Given the description of an element on the screen output the (x, y) to click on. 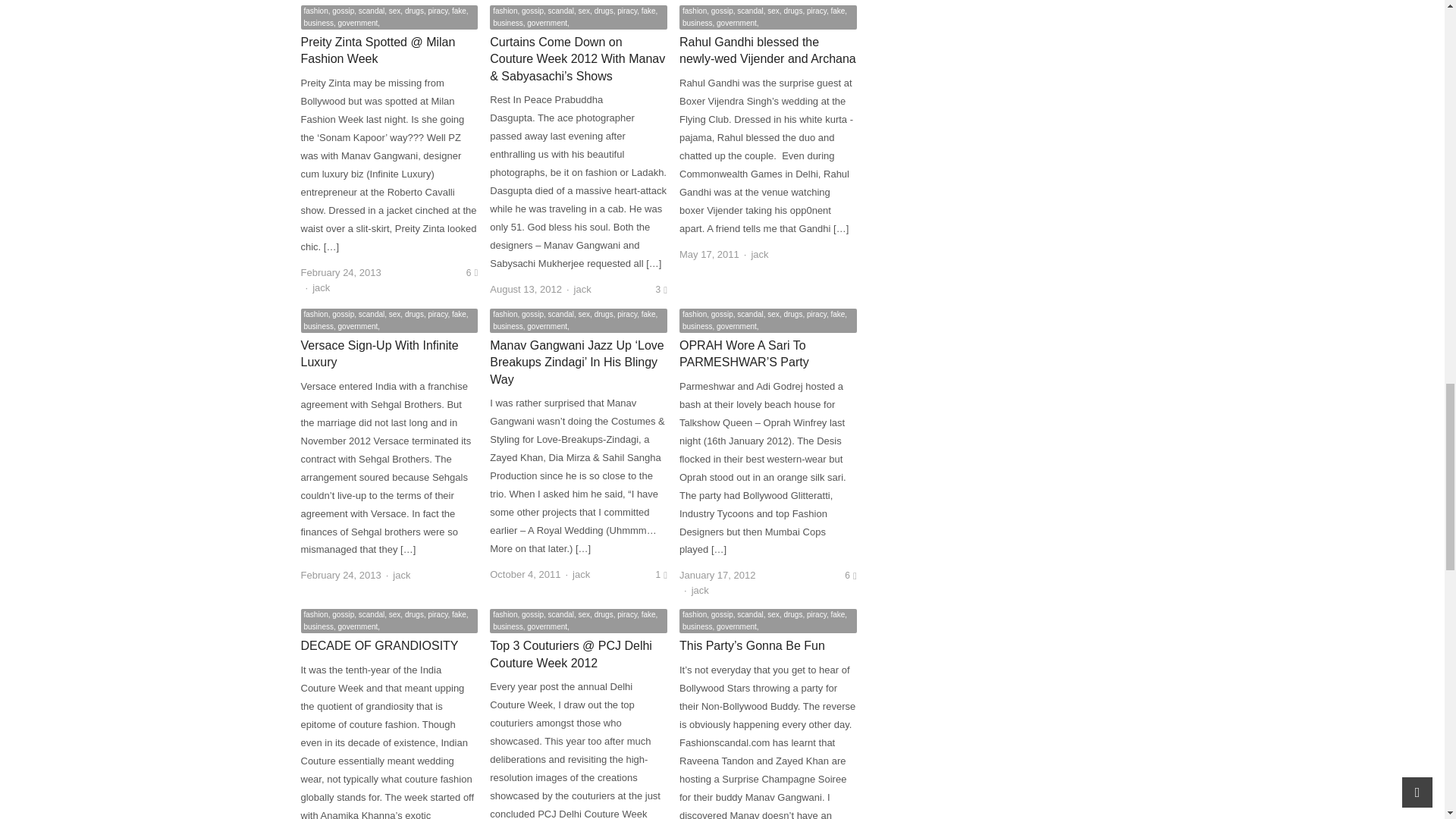
Versace Sign-Up With Infinite Luxury (378, 353)
3 (661, 289)
jack (582, 288)
Rahul Gandhi blessed the newly-wed Vijender and Archana (767, 50)
Versace Sign-Up With Infinite Luxury (378, 353)
Rahul Gandhi blessed the newly-wed Vijender and Archana (767, 50)
